Given the description of an element on the screen output the (x, y) to click on. 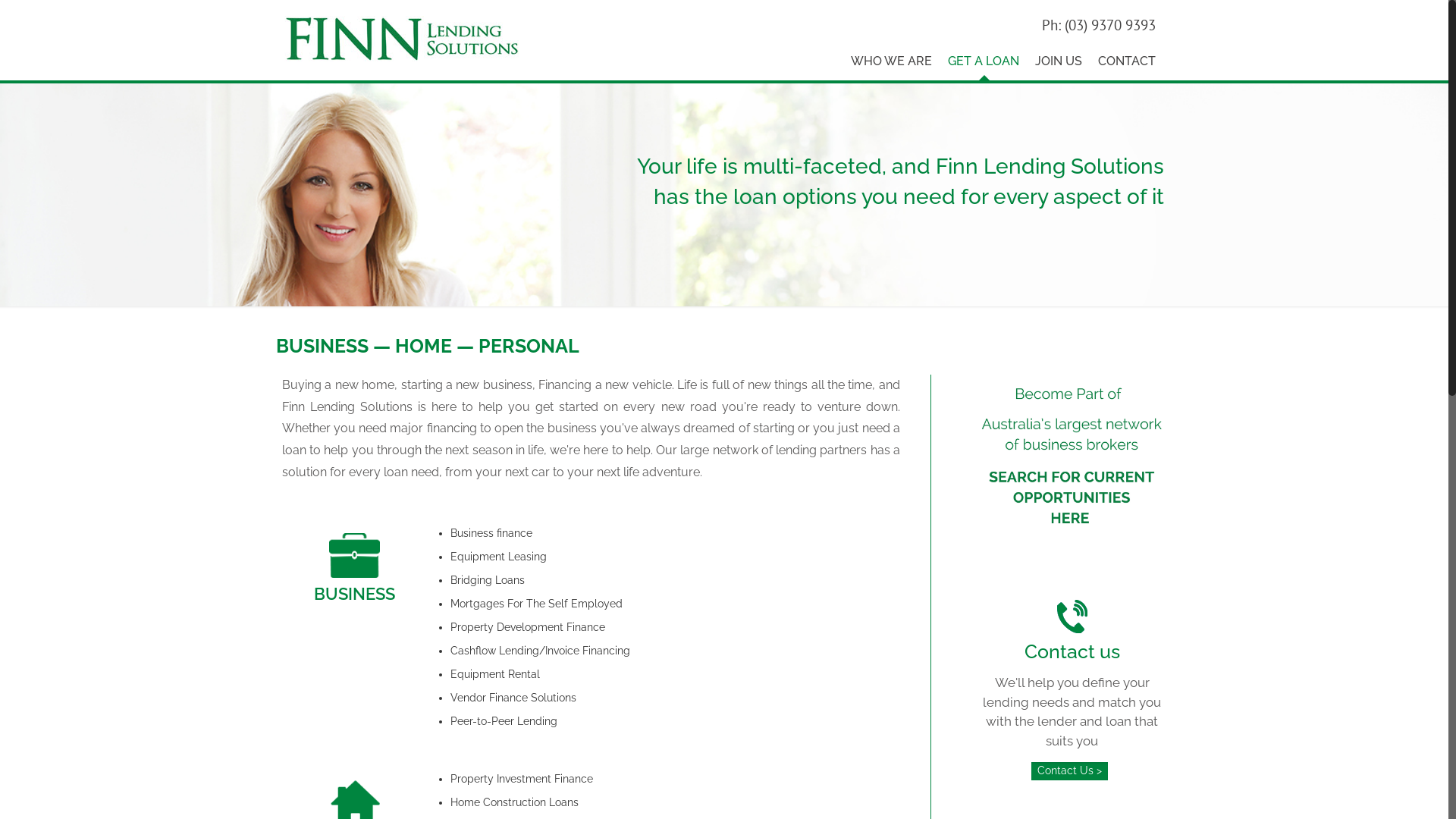
Ph: (03) 9370 9393 Element type: text (1095, 24)
Contact Us > Element type: text (1069, 771)
WHO WE ARE Element type: text (891, 61)
CONTACT Element type: text (1122, 61)
JOIN US Element type: text (1058, 61)
GET A LOAN Element type: text (983, 61)
